Given the description of an element on the screen output the (x, y) to click on. 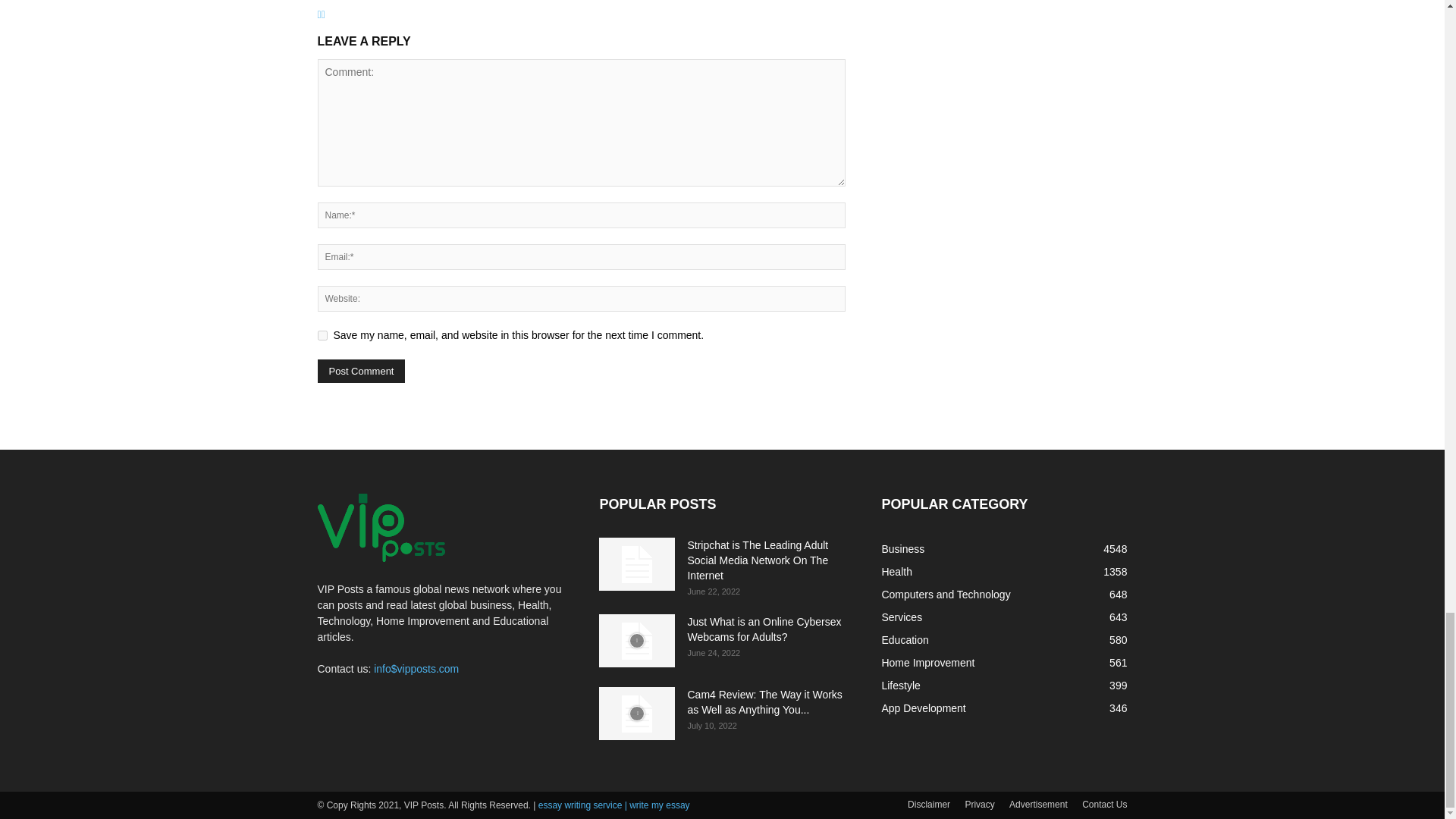
Post Comment (360, 371)
yes (321, 335)
